Given the description of an element on the screen output the (x, y) to click on. 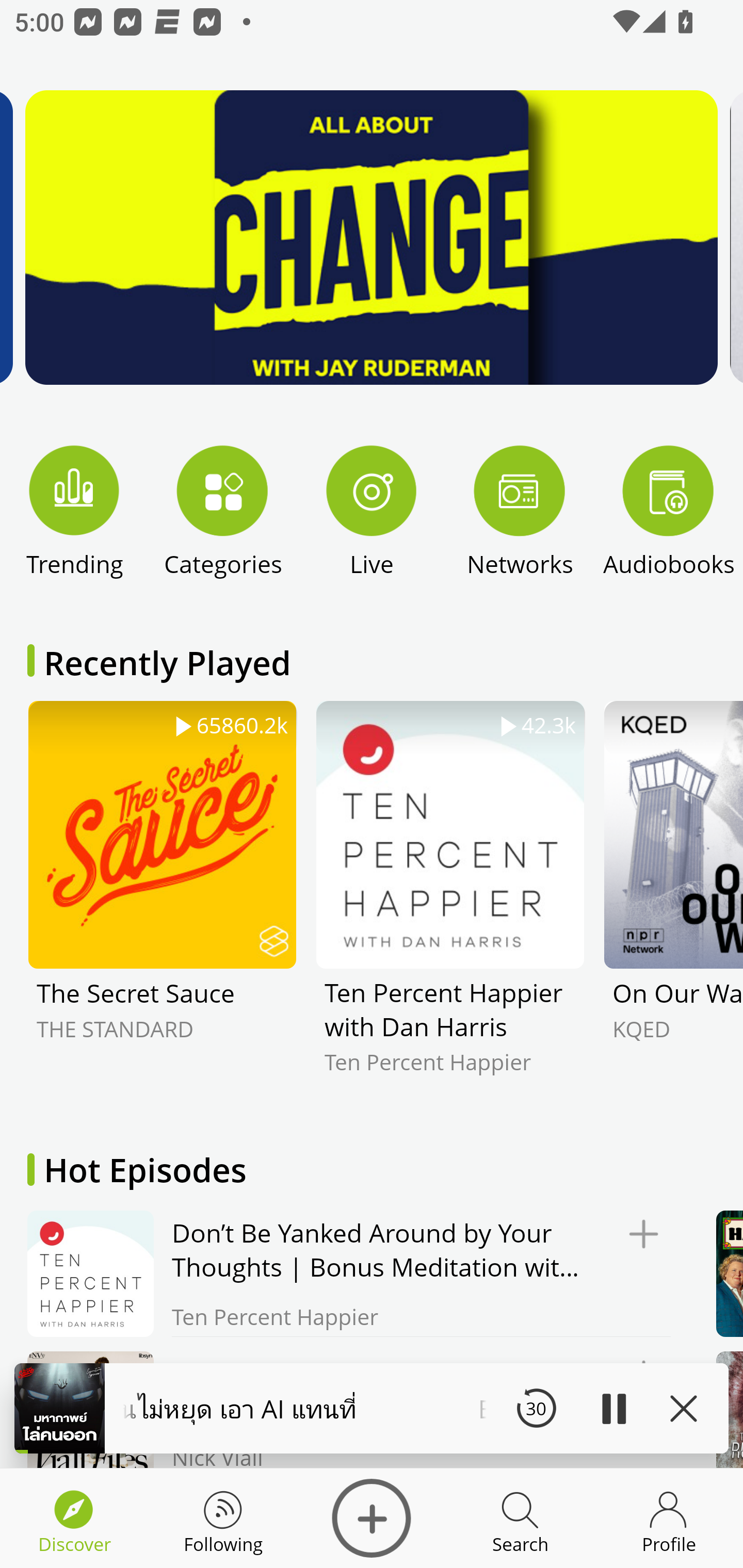
65860.2k The Secret Sauce THE STANDARD (162, 902)
On Our Watch KQED (673, 902)
Play (613, 1407)
30 Seek Backward (536, 1407)
Discover Following (222, 1518)
Discover (371, 1518)
Discover Search (519, 1518)
Discover Profile (668, 1518)
